Given the description of an element on the screen output the (x, y) to click on. 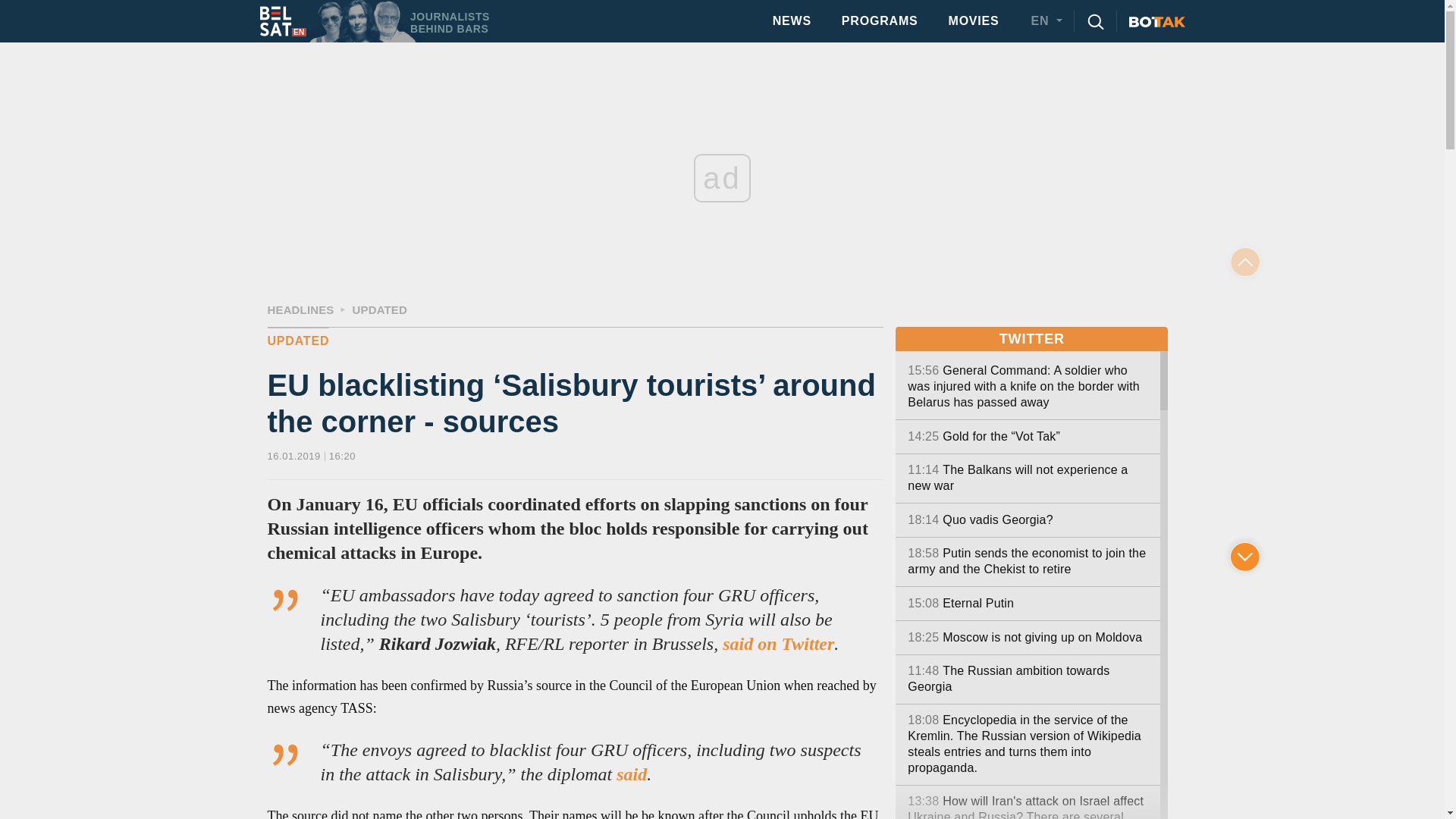
News (792, 20)
EN (1050, 21)
PROGRAMS (880, 20)
said (630, 773)
HEADLINES (299, 309)
said on Twitter (361, 21)
Programs (778, 643)
NEWS (880, 20)
UPDATED (792, 20)
MOVIES (297, 346)
UPDATED (973, 20)
Movies (379, 309)
